Given the description of an element on the screen output the (x, y) to click on. 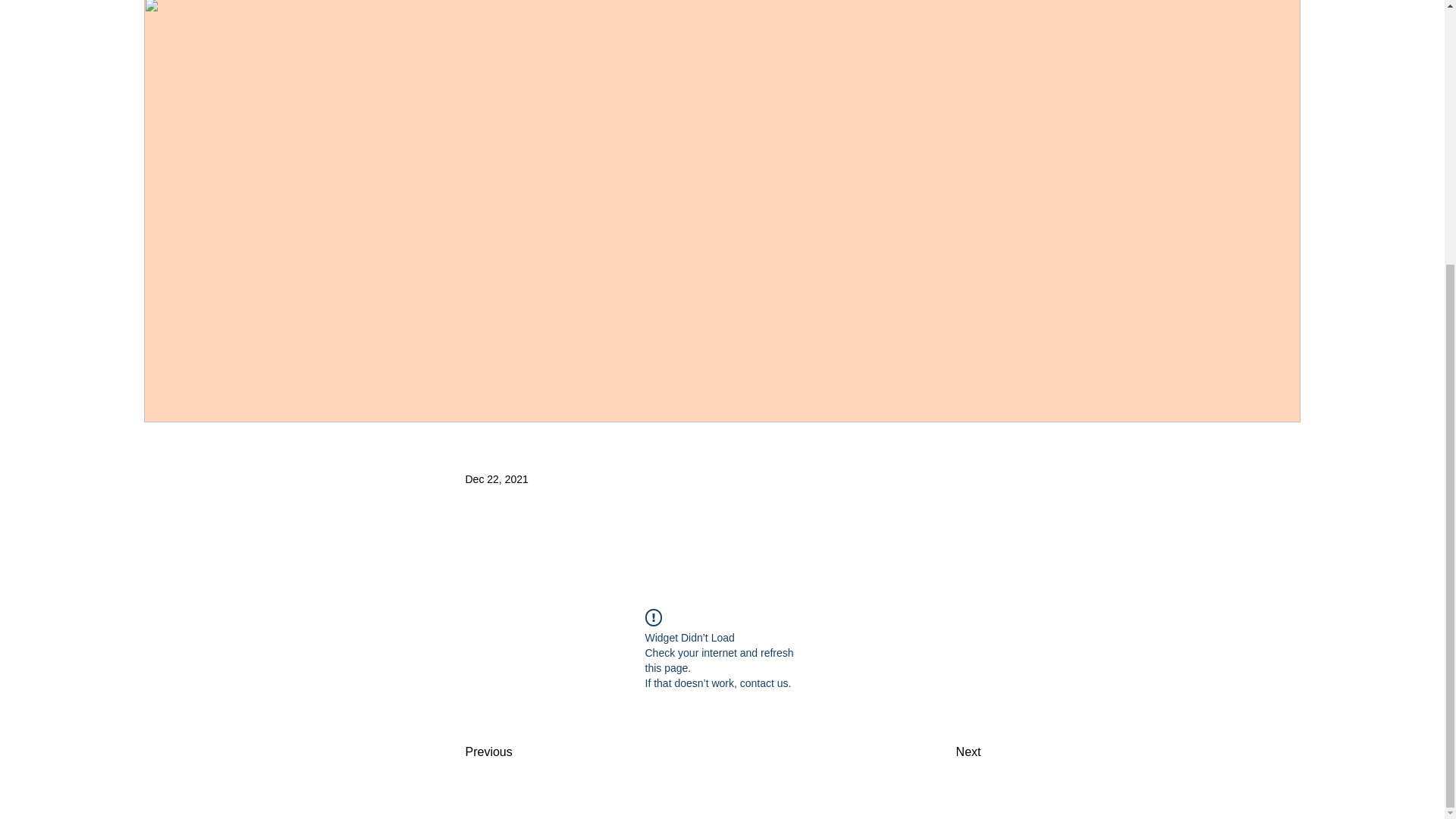
Previous (515, 752)
! (653, 617)
Next (943, 752)
